Given the description of an element on the screen output the (x, y) to click on. 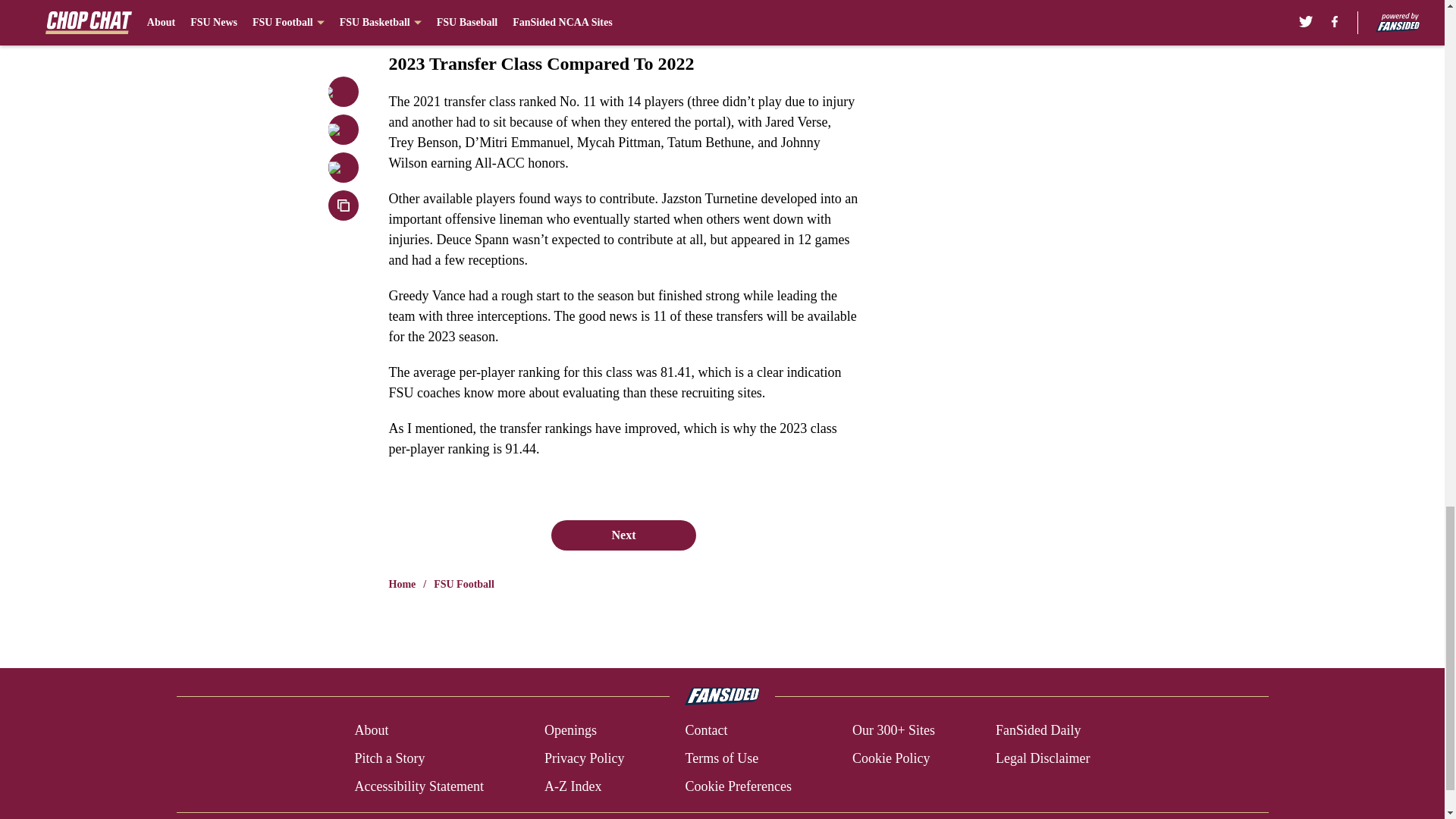
Pitch a Story (389, 758)
Home (401, 584)
Accessibility Statement (418, 786)
Cookie Policy (890, 758)
Terms of Use (721, 758)
Openings (570, 730)
Contact (705, 730)
Privacy Policy (584, 758)
A-Z Index (572, 786)
FanSided Daily (1038, 730)
